Given the description of an element on the screen output the (x, y) to click on. 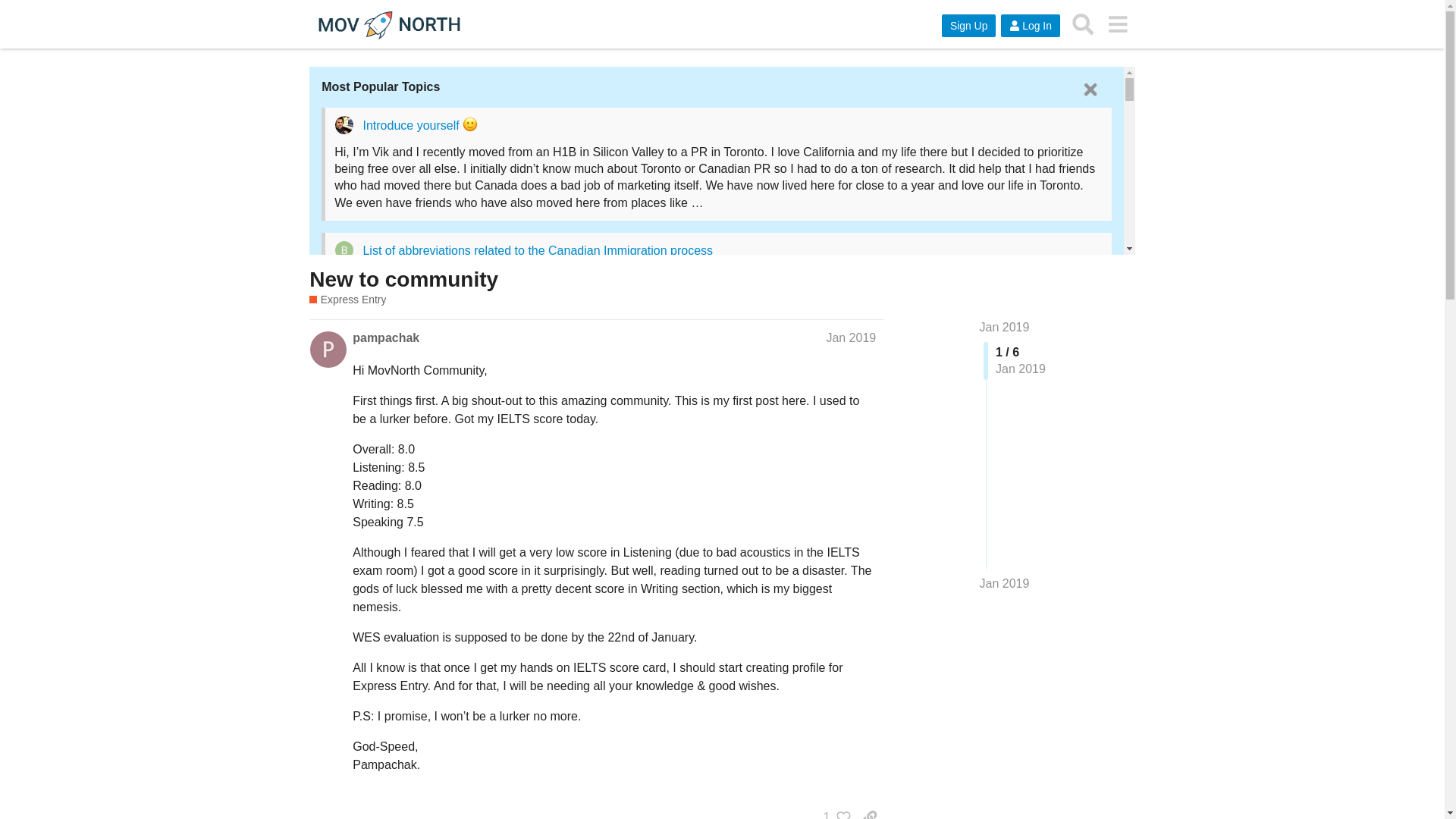
Post date (850, 337)
Jump to the last post (1004, 583)
FBI EDO is Here! - Fast Online USA Police Clearance (506, 789)
New to community (402, 279)
Search (1082, 23)
Jan 2019 (1004, 583)
menu (1117, 23)
WES evaluation timeline and document submission details (519, 698)
Jump to the first post (1004, 327)
ECA (696, 699)
Education Assessment (423, 574)
Dismiss this banner (1090, 88)
PCC (671, 790)
